Given the description of an element on the screen output the (x, y) to click on. 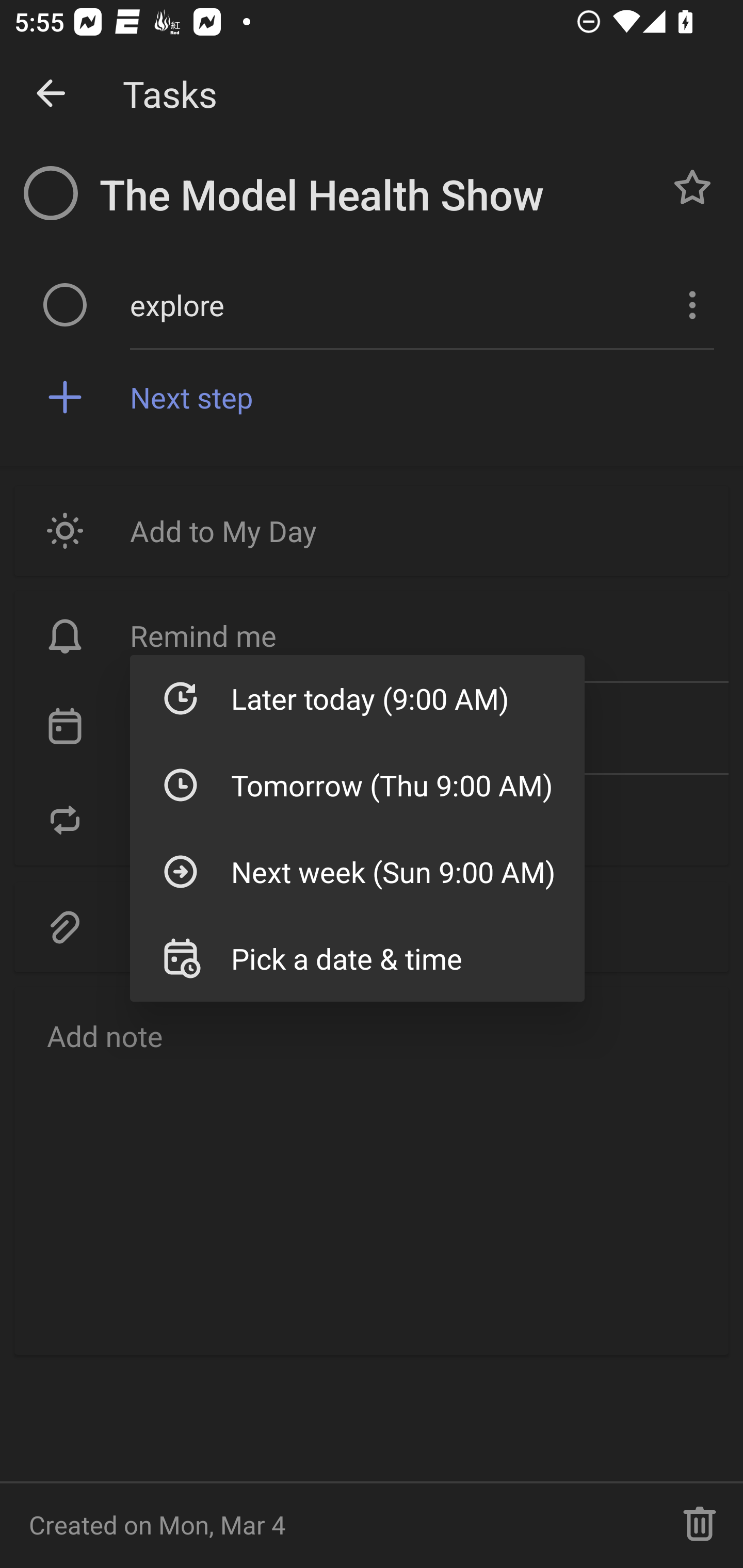
Later today (9:00 AM) (357, 698)
Tomorrow (Thu 9:00 AM) (357, 784)
Next week (Sun 9:00 AM) (357, 871)
Pick a date & time (357, 958)
